Given the description of an element on the screen output the (x, y) to click on. 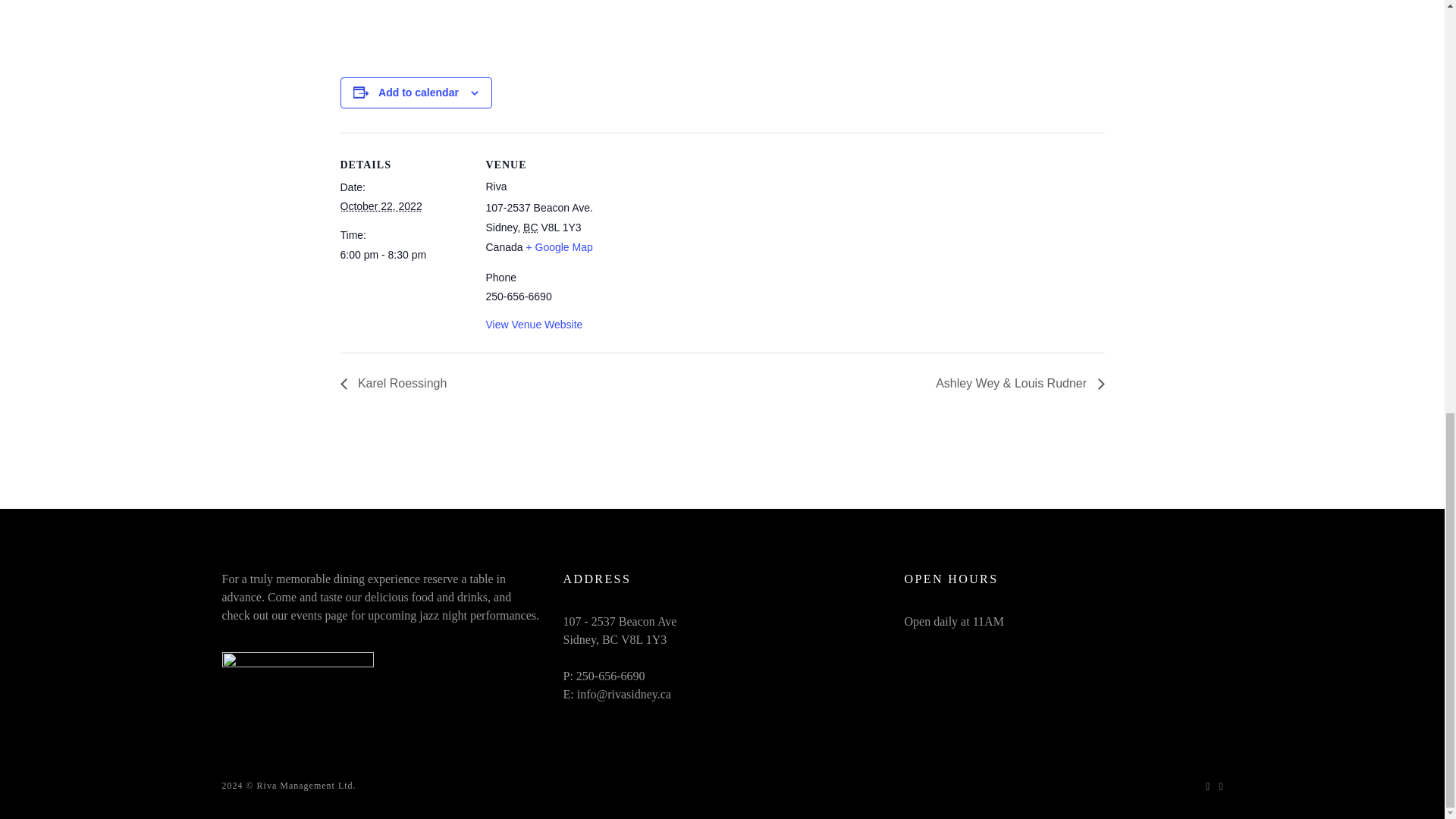
BC (529, 227)
2022-10-22 (380, 205)
Click to view a Google Map (558, 246)
Add to calendar (418, 92)
View Venue Website (533, 324)
Google maps iframe displaying the address to Riva (710, 237)
2022-10-22 (403, 254)
Karel Roessingh (396, 382)
